Given the description of an element on the screen output the (x, y) to click on. 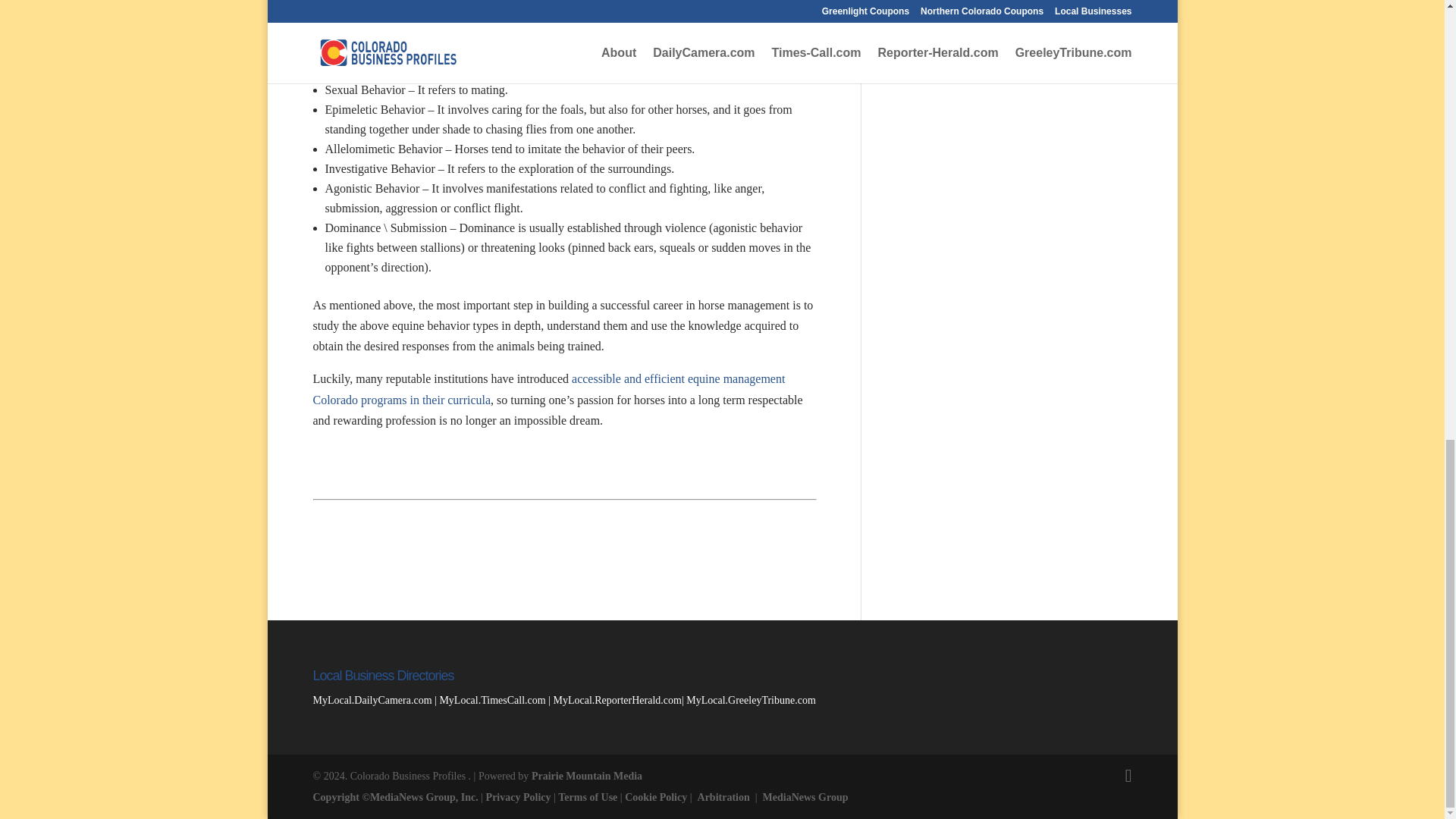
MyLocal.TimesCall.com (491, 699)
Arbitration (723, 797)
MyLocal.GreeleyTribune.com (750, 699)
MyLocal.ReporterHerald.com (617, 699)
MyLocal.DailyCamera.com (371, 699)
MediaNews Group (805, 797)
Terms of Use (587, 797)
Prairie Mountain Media (586, 776)
Cookie Policy (655, 797)
Privacy Policy (518, 797)
